Given the description of an element on the screen output the (x, y) to click on. 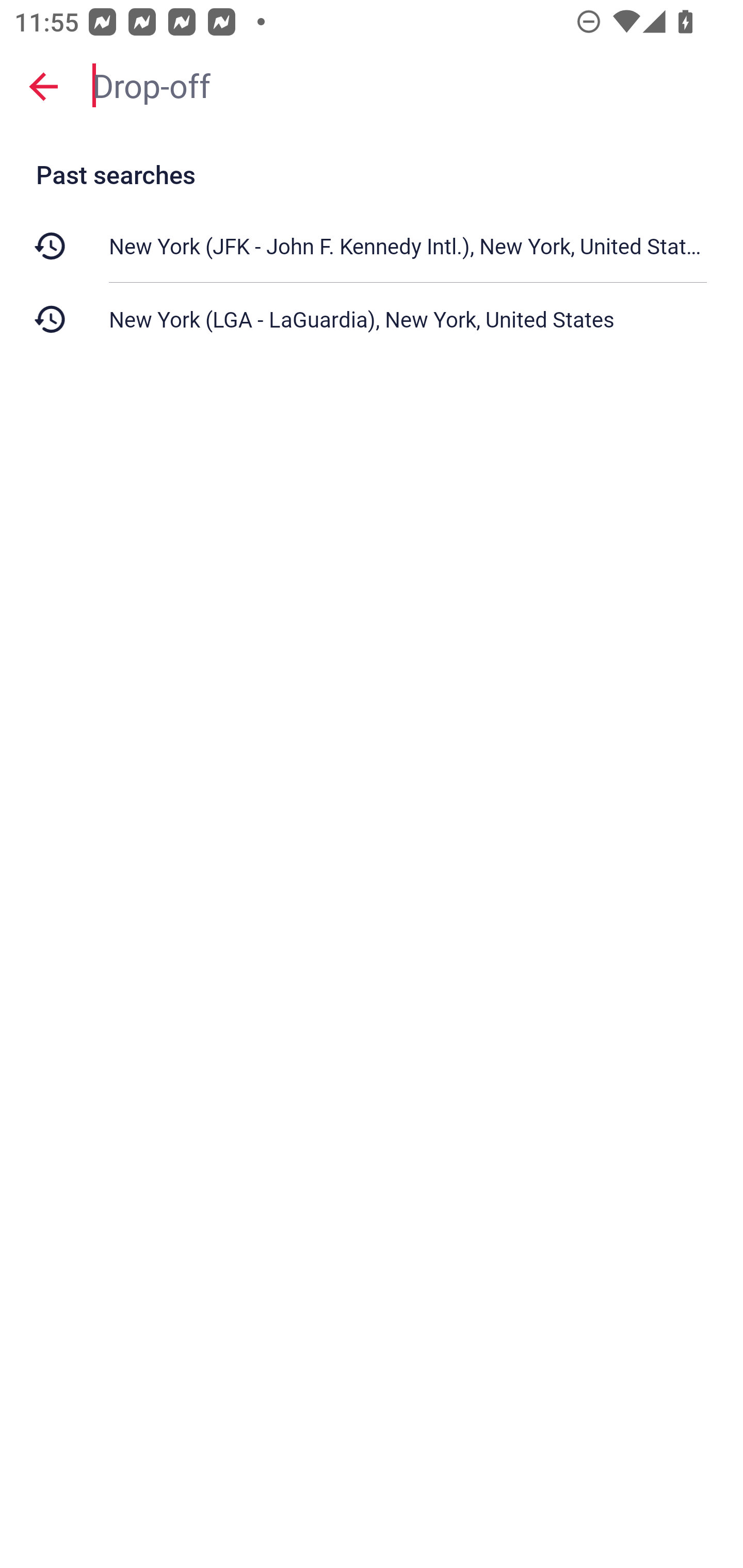
Drop-off,  (407, 85)
Close search screen (43, 86)
